Given the description of an element on the screen output the (x, y) to click on. 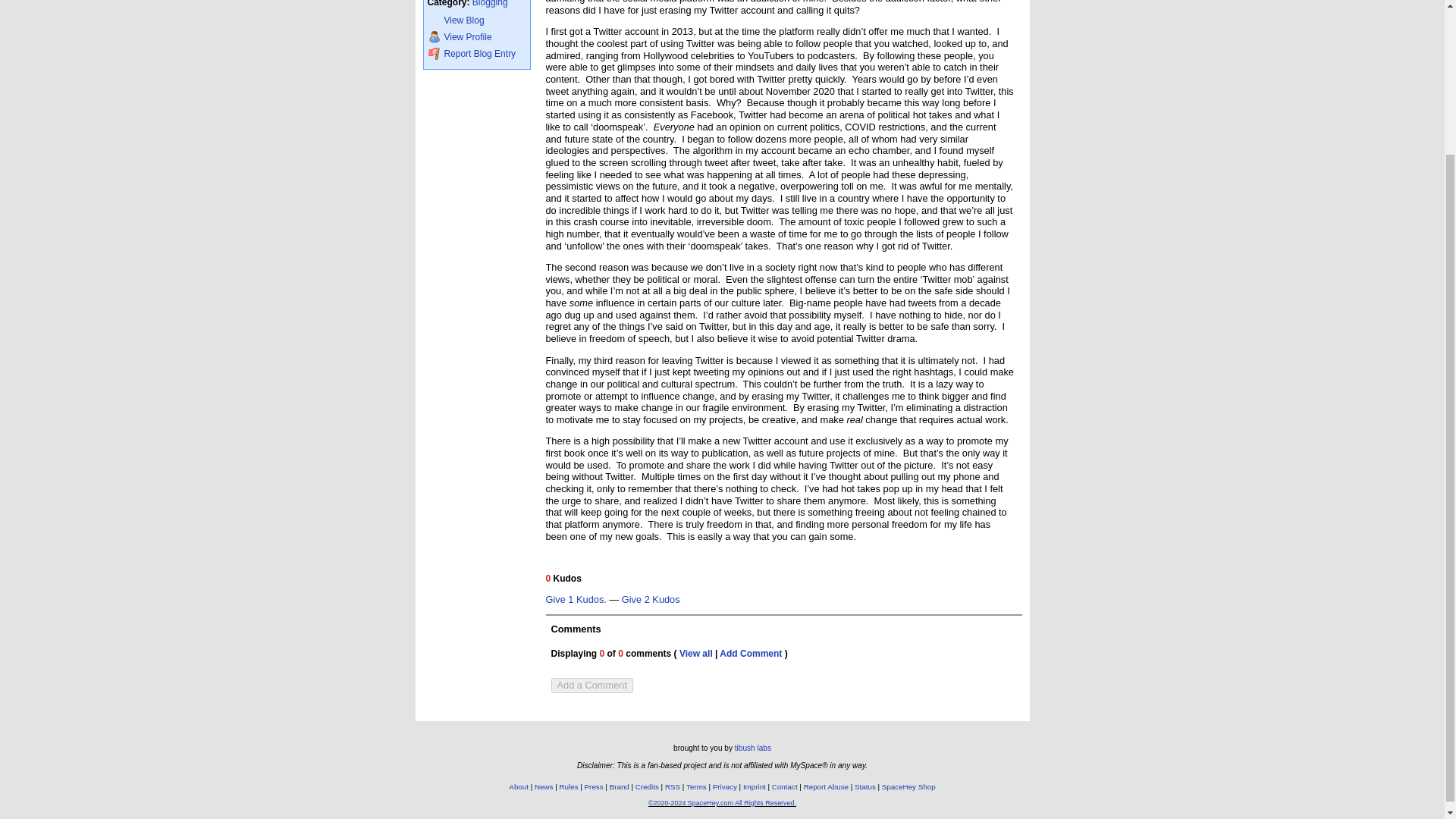
Rules (568, 786)
Terms (695, 786)
Press (594, 786)
Report Blog Entry (476, 52)
Brand (619, 786)
Give 1 Kudos. (576, 600)
Add Comment (750, 653)
Privacy (724, 786)
About (518, 786)
Add a Comment (590, 685)
Add a Comment (590, 685)
View all (696, 653)
Give 2 Kudos (650, 600)
Blogging (489, 3)
RSS (672, 786)
